Given the description of an element on the screen output the (x, y) to click on. 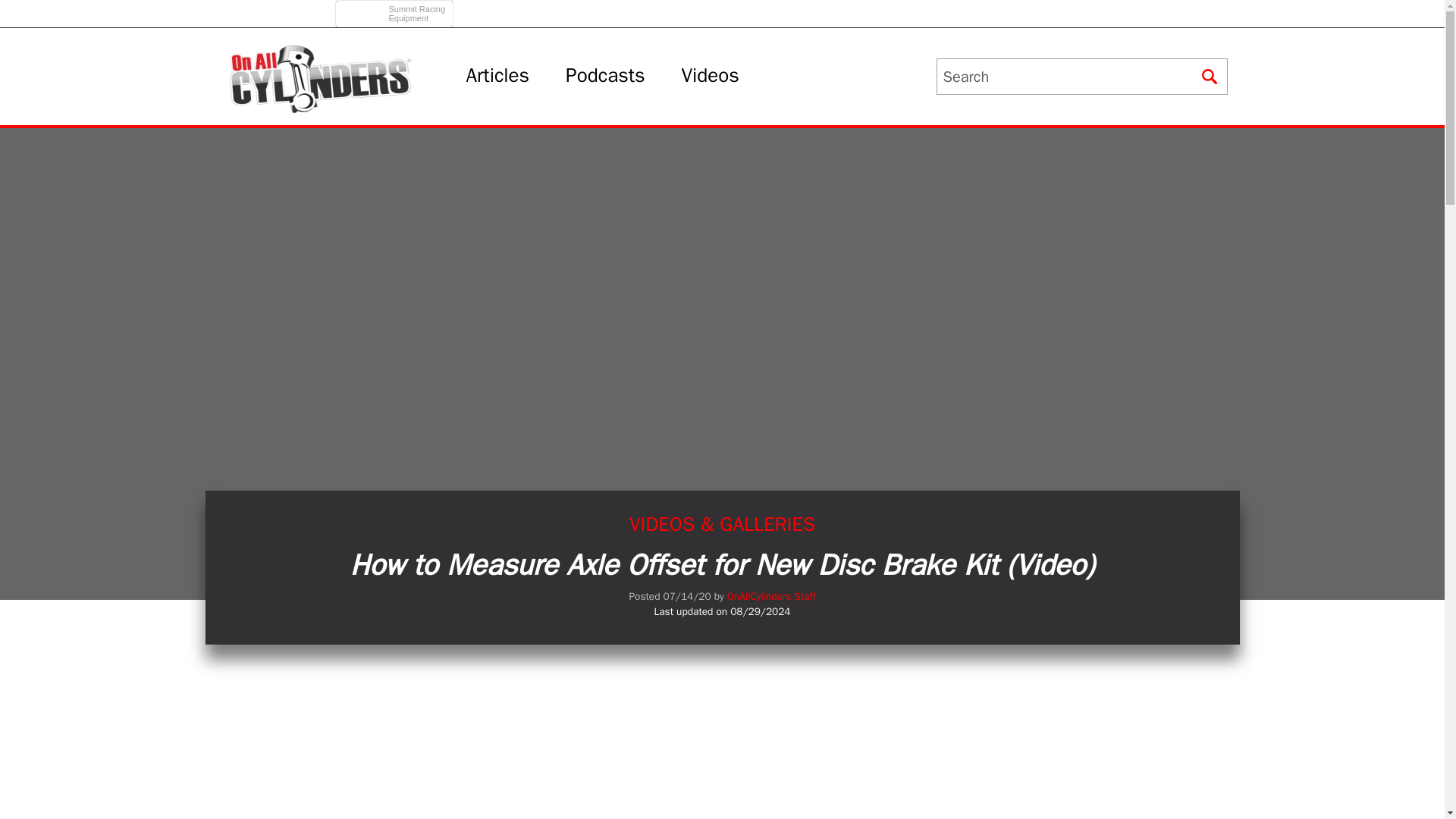
Podcasts (605, 76)
Articles (497, 76)
Videos (395, 9)
How To Measure Axle Offset (709, 76)
